Given the description of an element on the screen output the (x, y) to click on. 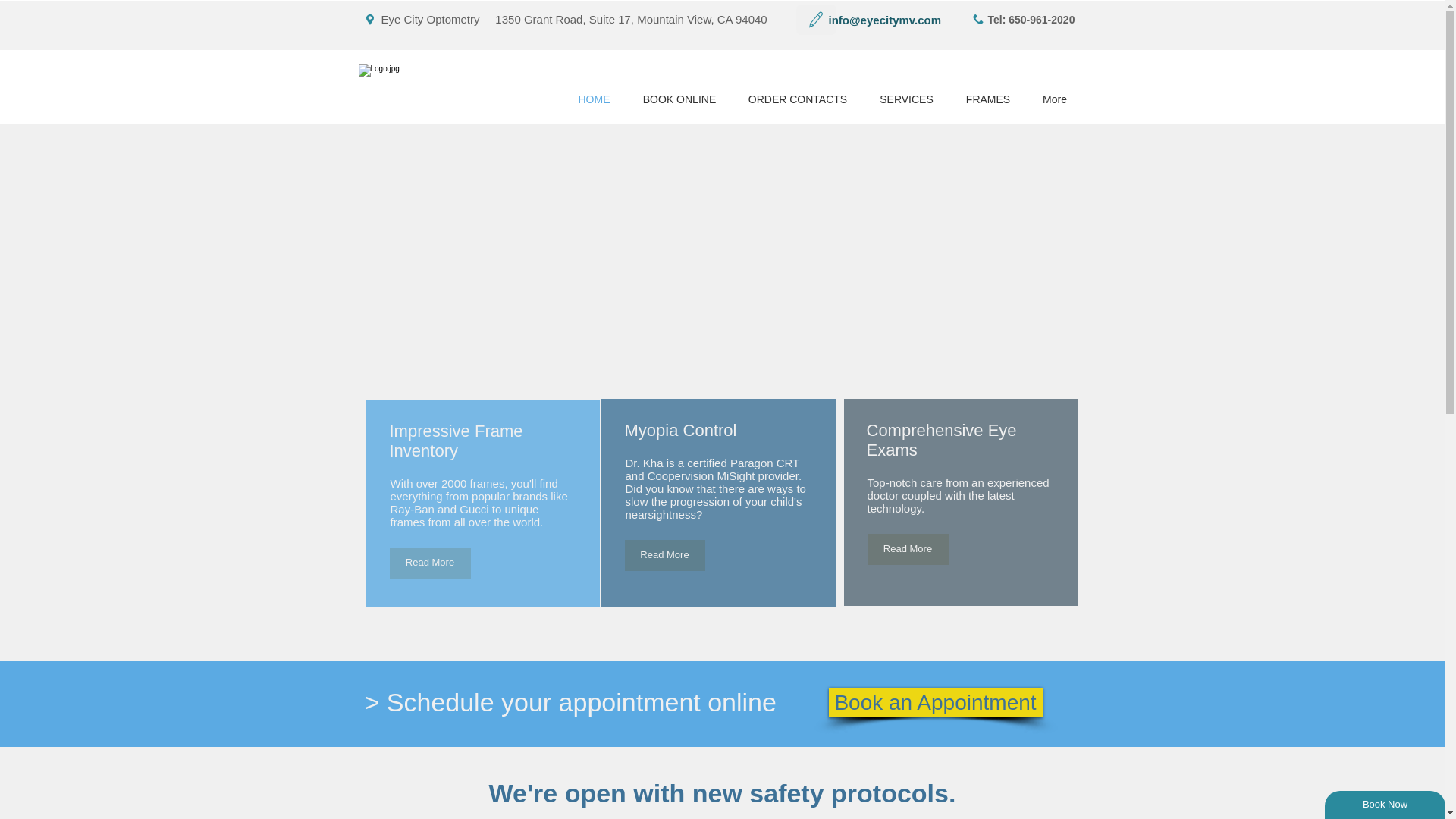
Read More (430, 562)
Book an Appointment (935, 702)
Read More (908, 549)
Read More (664, 554)
FRAMES (987, 99)
SERVICES (906, 99)
HOME (593, 99)
BOOK ONLINE (679, 99)
ORDER CONTACTS (797, 99)
